Given the description of an element on the screen output the (x, y) to click on. 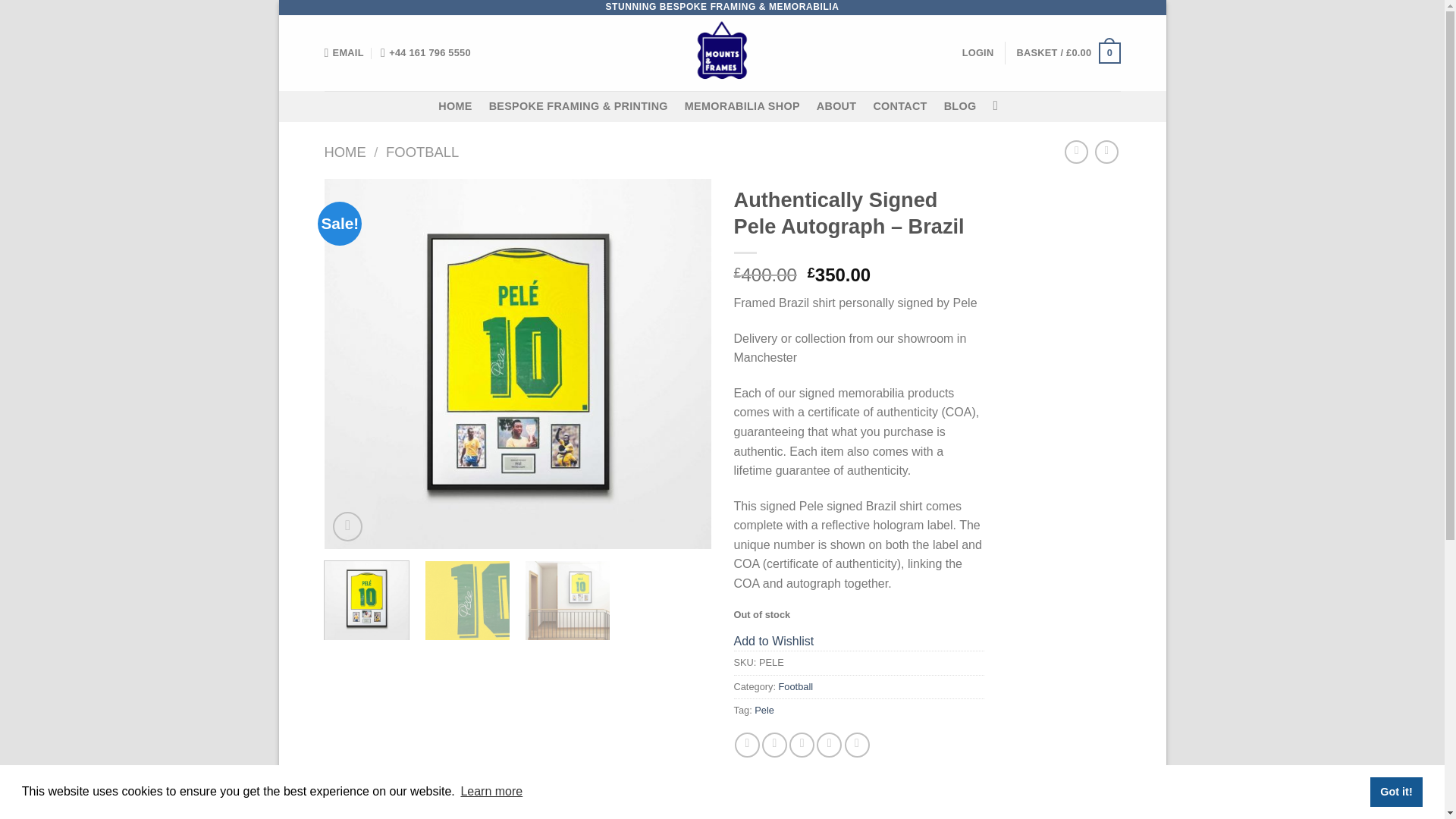
Football (795, 686)
FOOTBALL (421, 151)
HOME (454, 105)
ABOUT (836, 105)
Add to Wishlist (773, 640)
Pele (764, 709)
Learn more (491, 791)
MEMORABILIA SHOP (741, 105)
HOME (345, 151)
EMAIL (344, 52)
